Given the description of an element on the screen output the (x, y) to click on. 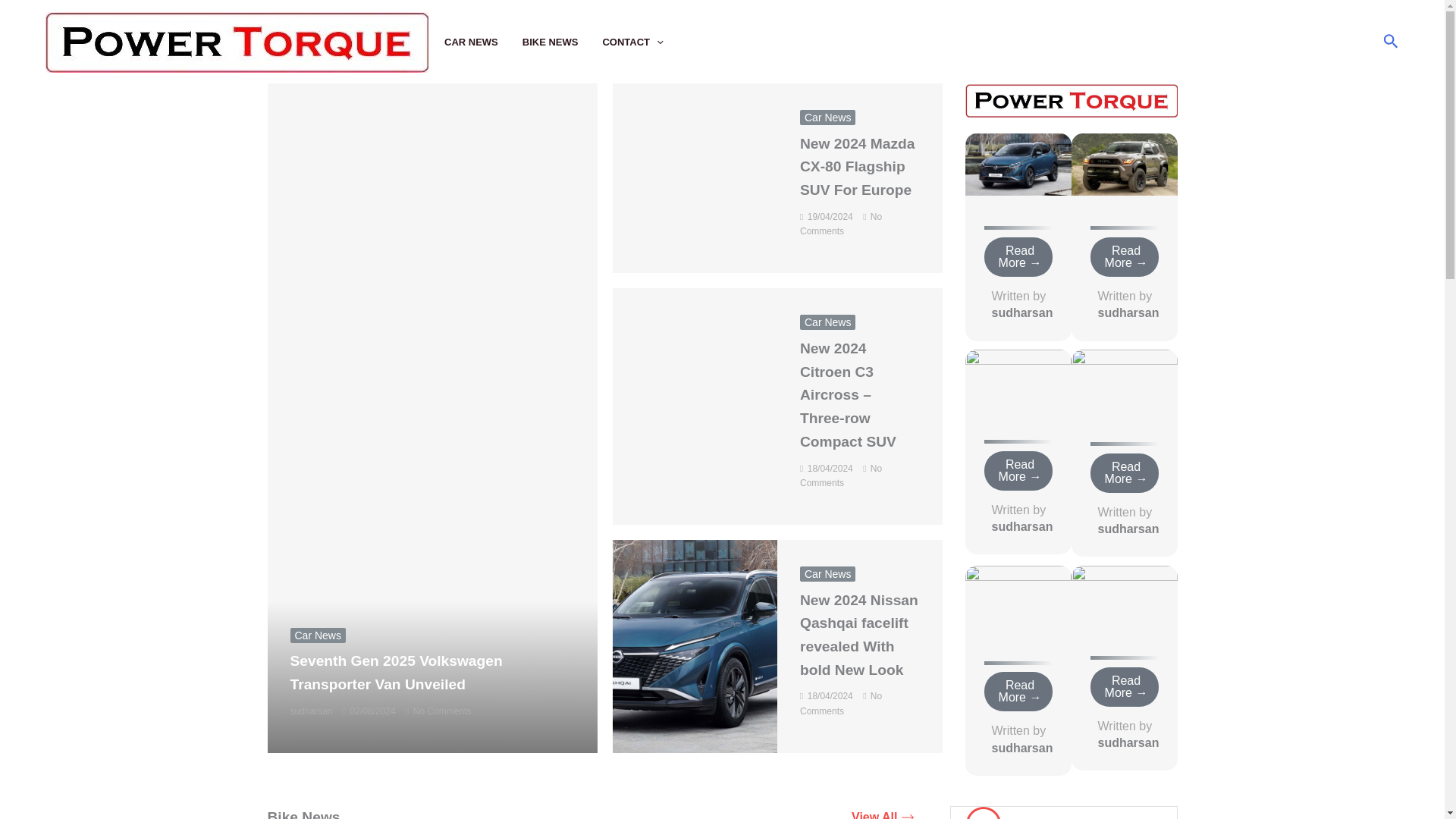
2023 Mercedes-Maybach S680 Haute Voiture sedan debuts (1123, 594)
Car News (827, 322)
New 2024 Mazda CX-80 Flagship SUV For Europe (856, 166)
Seventh Gen 2025 Volkswagen Transporter Van Unveiled (395, 672)
Car News (827, 573)
CAR NEWS (483, 42)
CONTACT (644, 42)
Car News (827, 117)
New Generation Toyota 4Runner 2025 Rugged Off Roader SUV (1123, 163)
BIKE NEWS (562, 42)
